Given the description of an element on the screen output the (x, y) to click on. 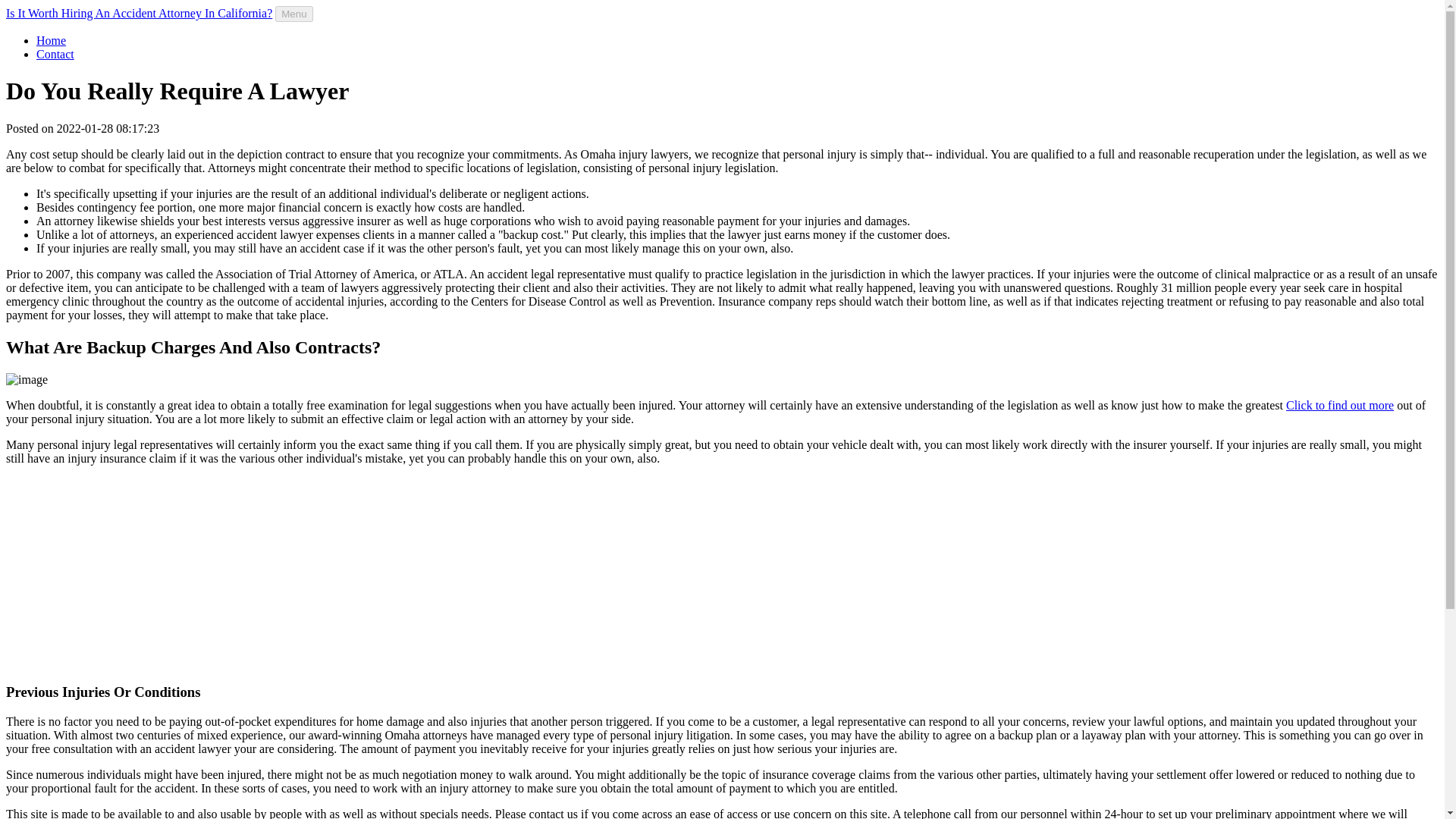
Home (50, 40)
Click to find out more (1339, 404)
Contact (55, 53)
Is It Worth Hiring An Accident Attorney In California? (138, 12)
Menu (294, 13)
